Given the description of an element on the screen output the (x, y) to click on. 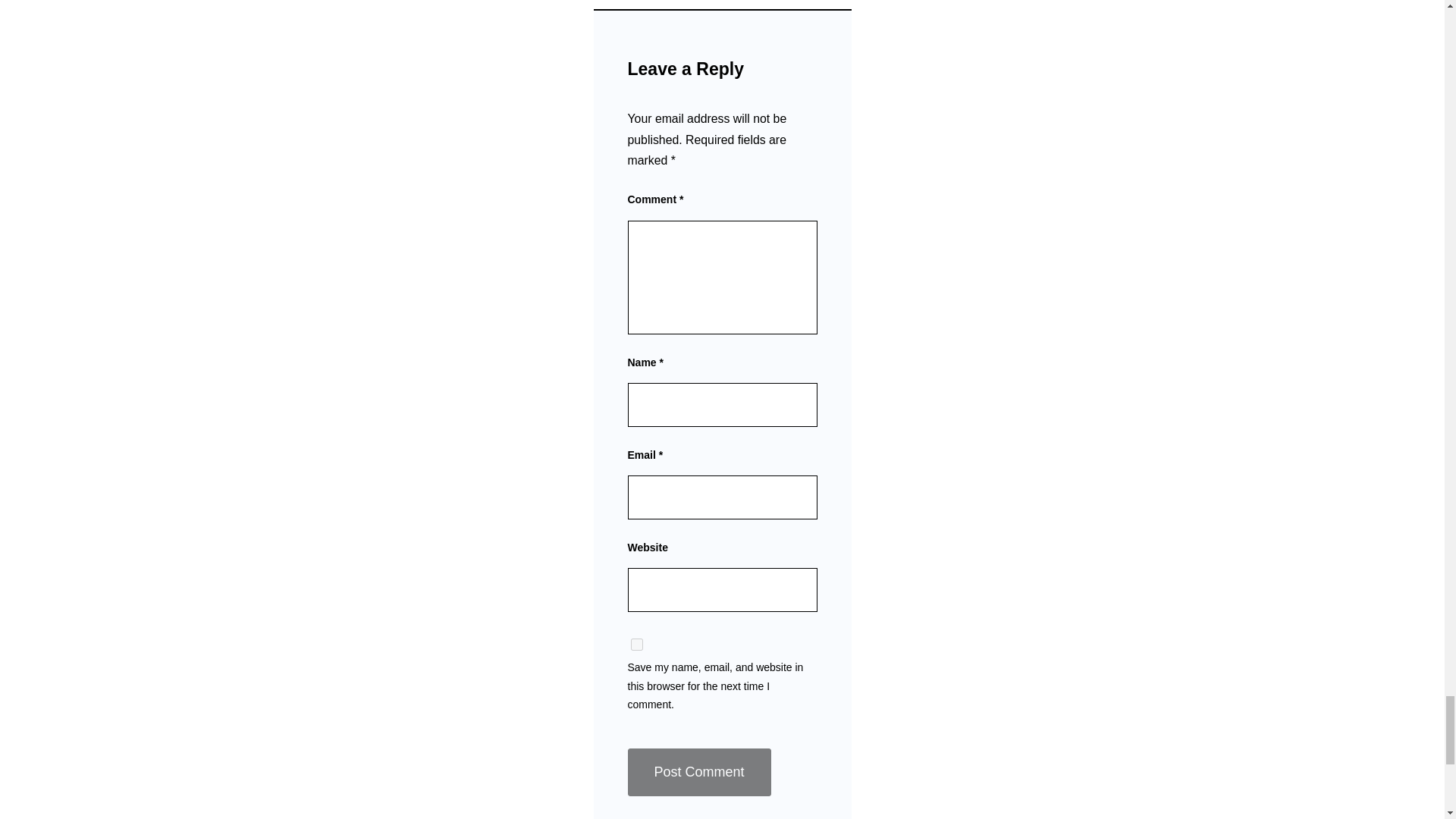
yes (636, 644)
Post Comment (699, 772)
Post Comment (699, 772)
